Given the description of an element on the screen output the (x, y) to click on. 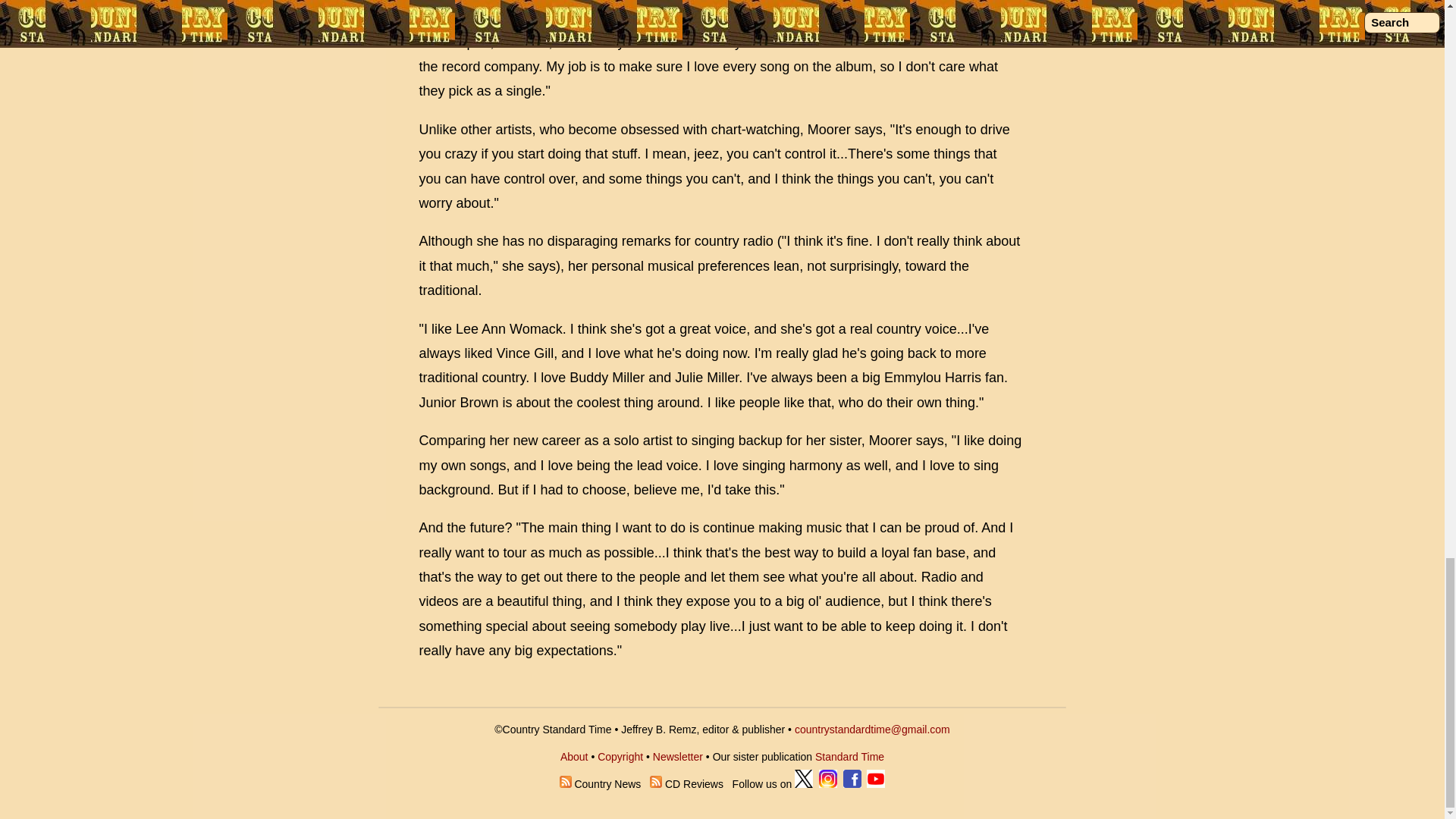
Newsletter (677, 756)
Subscribe to Country Music News (565, 784)
Instagram (827, 784)
Twitter (803, 784)
Subscribe to Country Music CD Reviews (655, 784)
About (574, 756)
Copyright (619, 756)
YouTube (875, 784)
Facebook (852, 784)
Standard Time (849, 756)
